Given the description of an element on the screen output the (x, y) to click on. 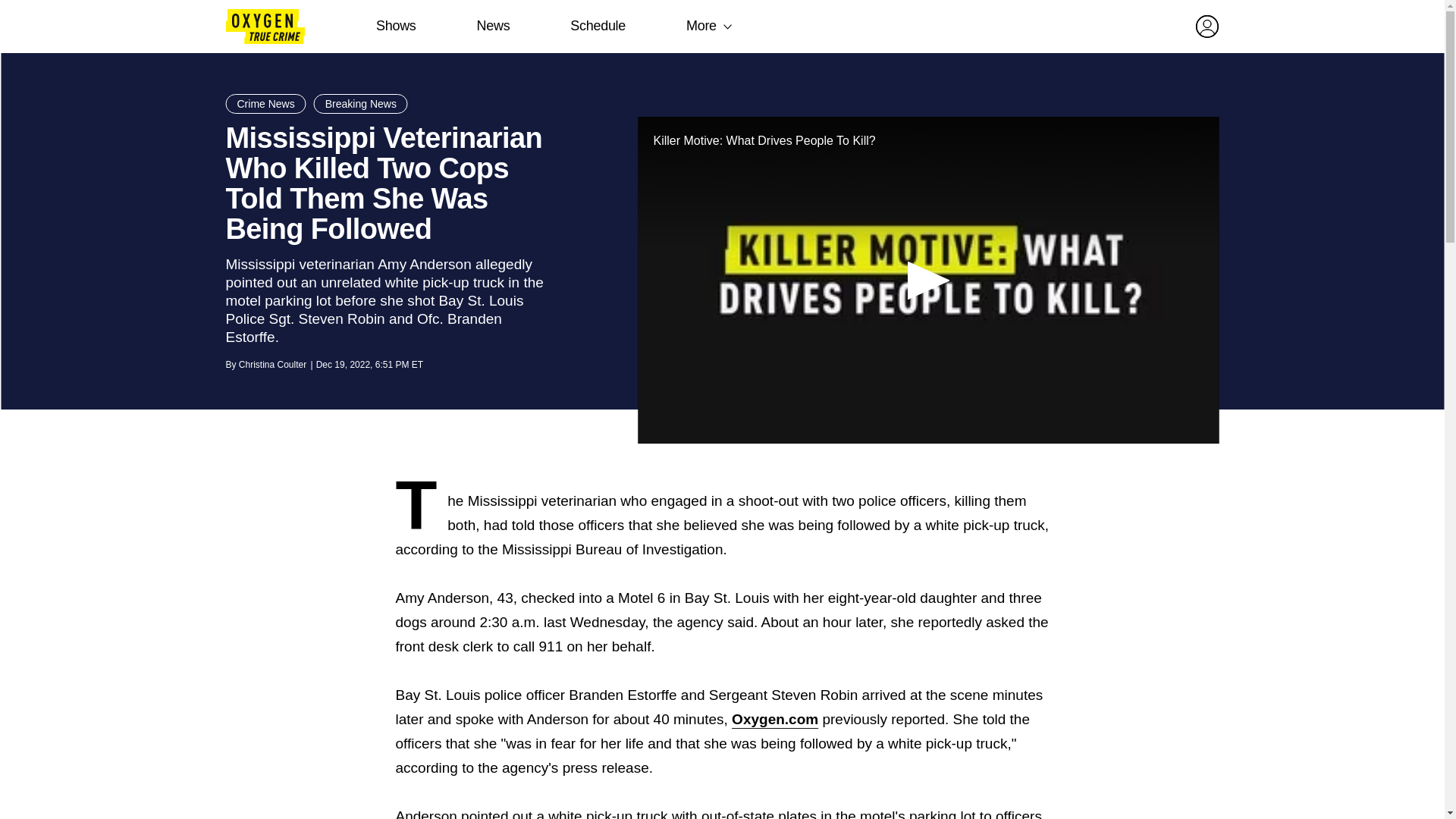
Oxygen.com (775, 719)
Schedule (598, 26)
Christina Coulter (271, 364)
News (492, 26)
Breaking News (360, 103)
More (700, 26)
Shows (395, 26)
Crime News (265, 103)
